Given the description of an element on the screen output the (x, y) to click on. 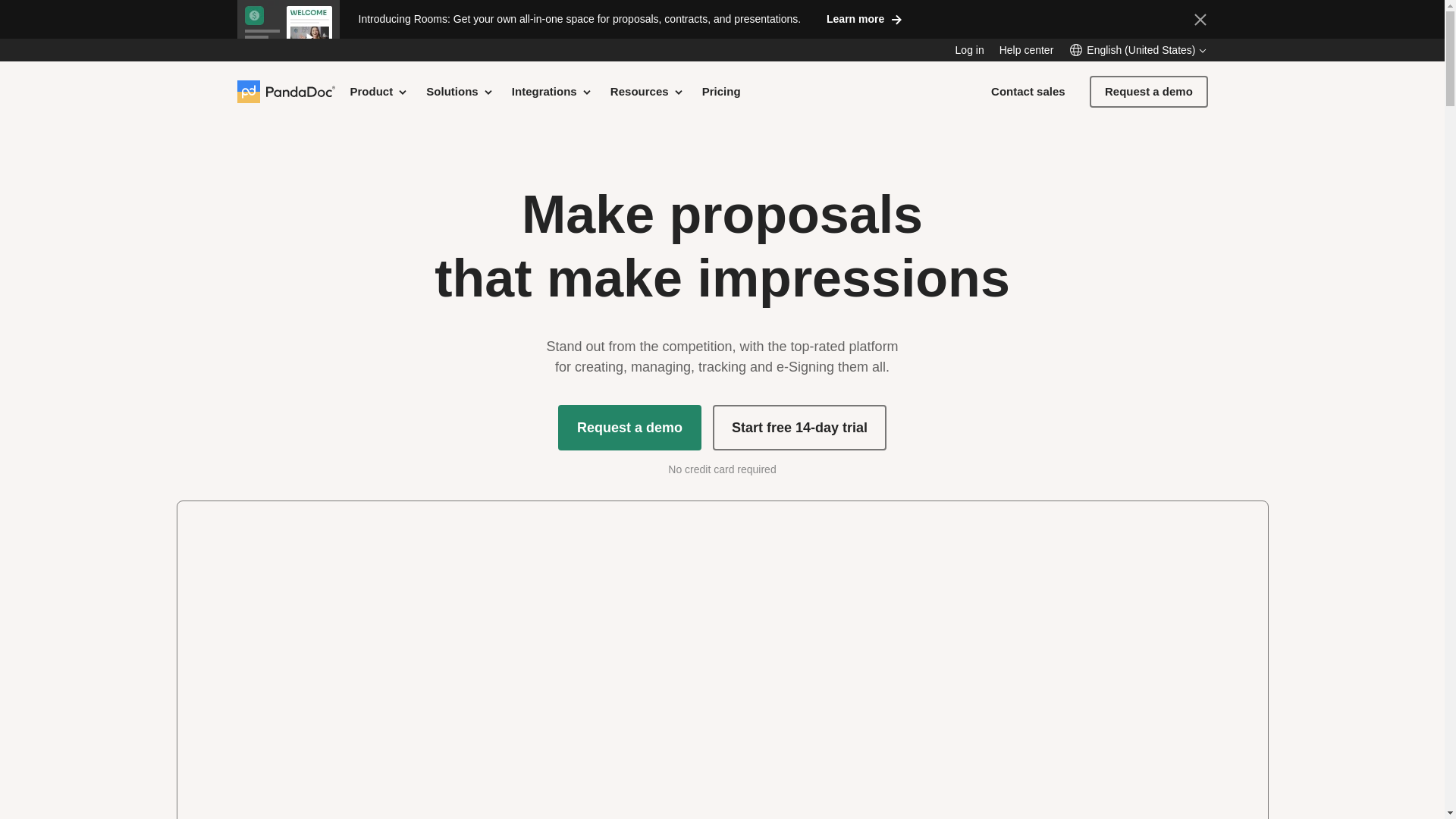
Learn more (864, 18)
Solutions (459, 91)
Log in (969, 50)
Product (379, 91)
Help center (1026, 50)
